Given the description of an element on the screen output the (x, y) to click on. 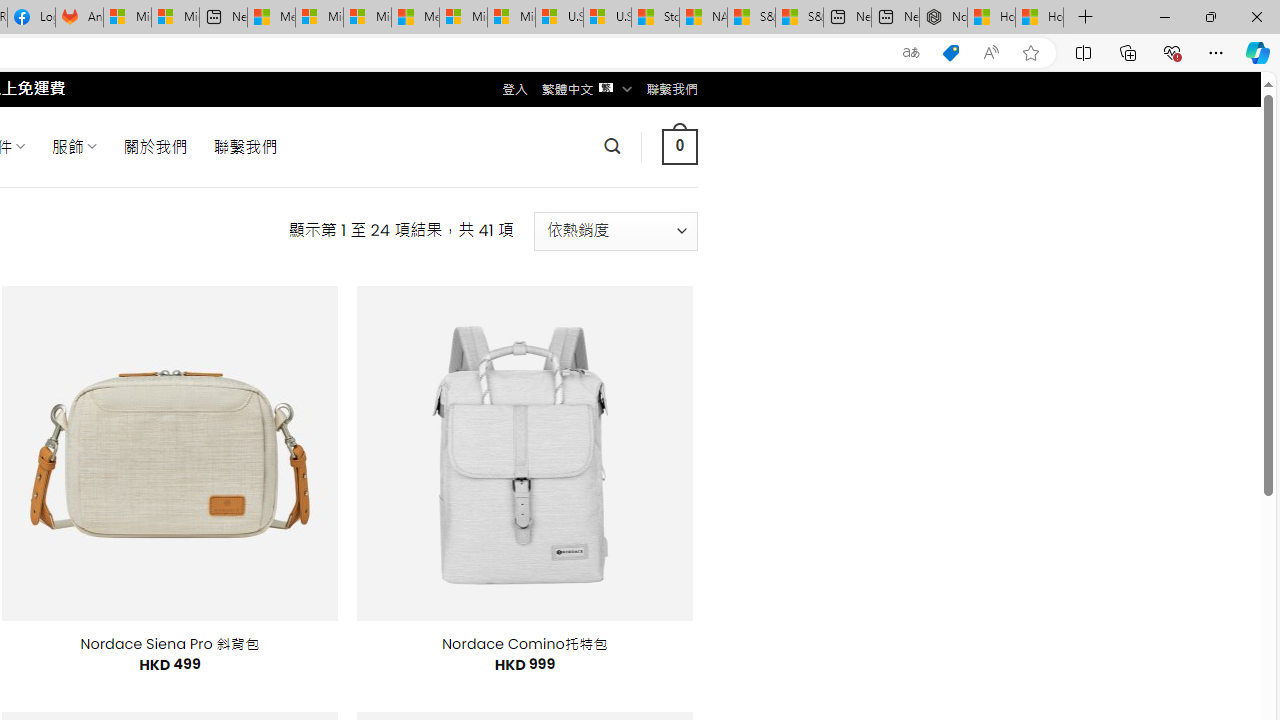
How to Use a Monitor With Your Closed Laptop (1039, 17)
Microsoft account | Privacy (319, 17)
Microsoft account | Home (367, 17)
 0  (679, 146)
This site has coupons! Shopping in Microsoft Edge (950, 53)
